Given the description of an element on the screen output the (x, y) to click on. 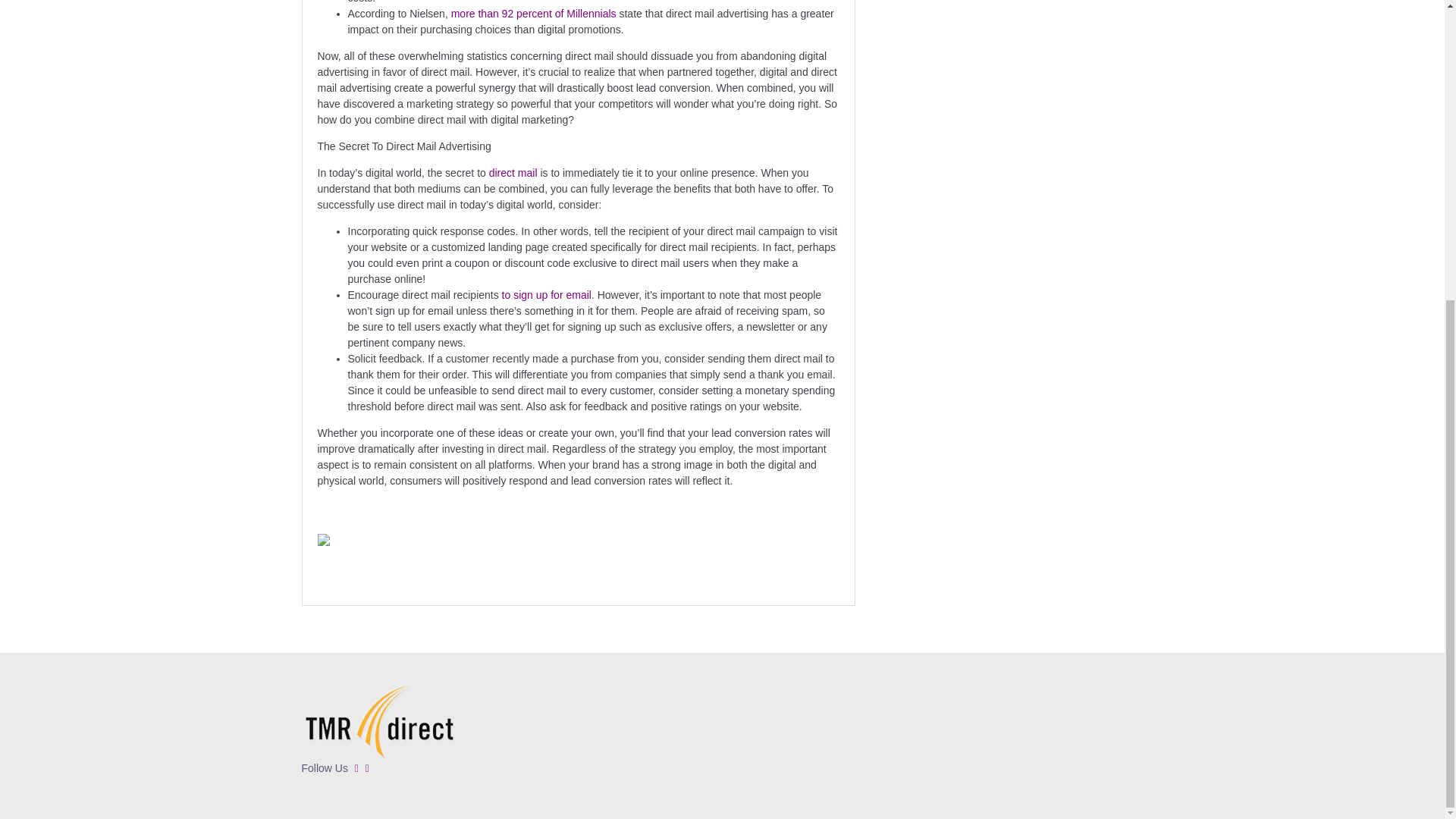
direct mail (513, 173)
to sign up for email (546, 295)
more than 92 percent of Millennials (533, 13)
to sign up for email (546, 295)
direct mail (513, 173)
more than 92 percent of Millennials (533, 13)
